Given the description of an element on the screen output the (x, y) to click on. 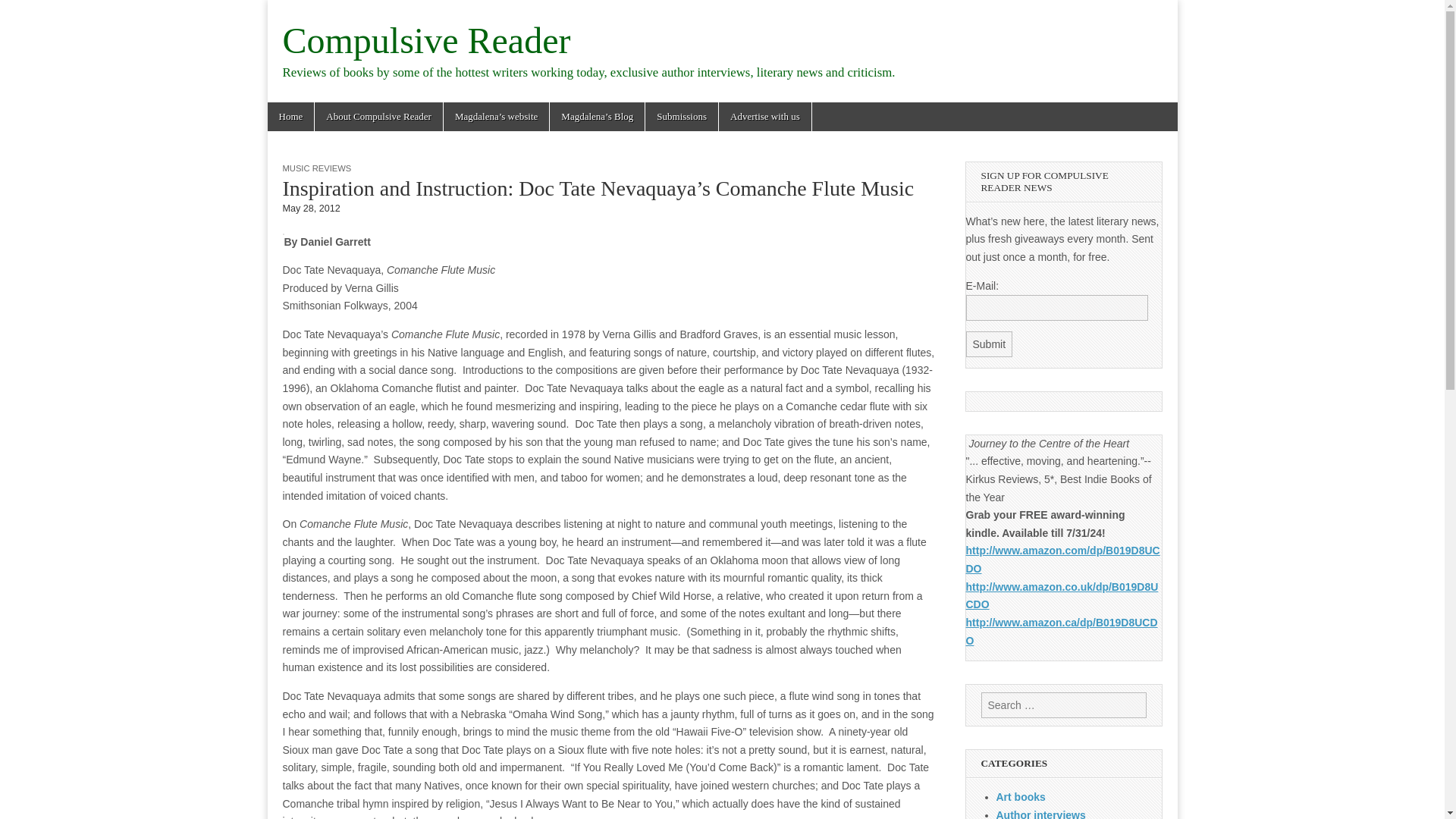
Art books (1020, 797)
MUSIC REVIEWS (316, 167)
Submit (989, 344)
Submissions (681, 116)
Advertise with us (764, 116)
About Compulsive Reader (378, 116)
Search (23, 12)
Submit (989, 344)
Compulsive Reader (426, 40)
Compulsive Reader (426, 40)
Author interviews (1040, 814)
Home (290, 116)
